Given the description of an element on the screen output the (x, y) to click on. 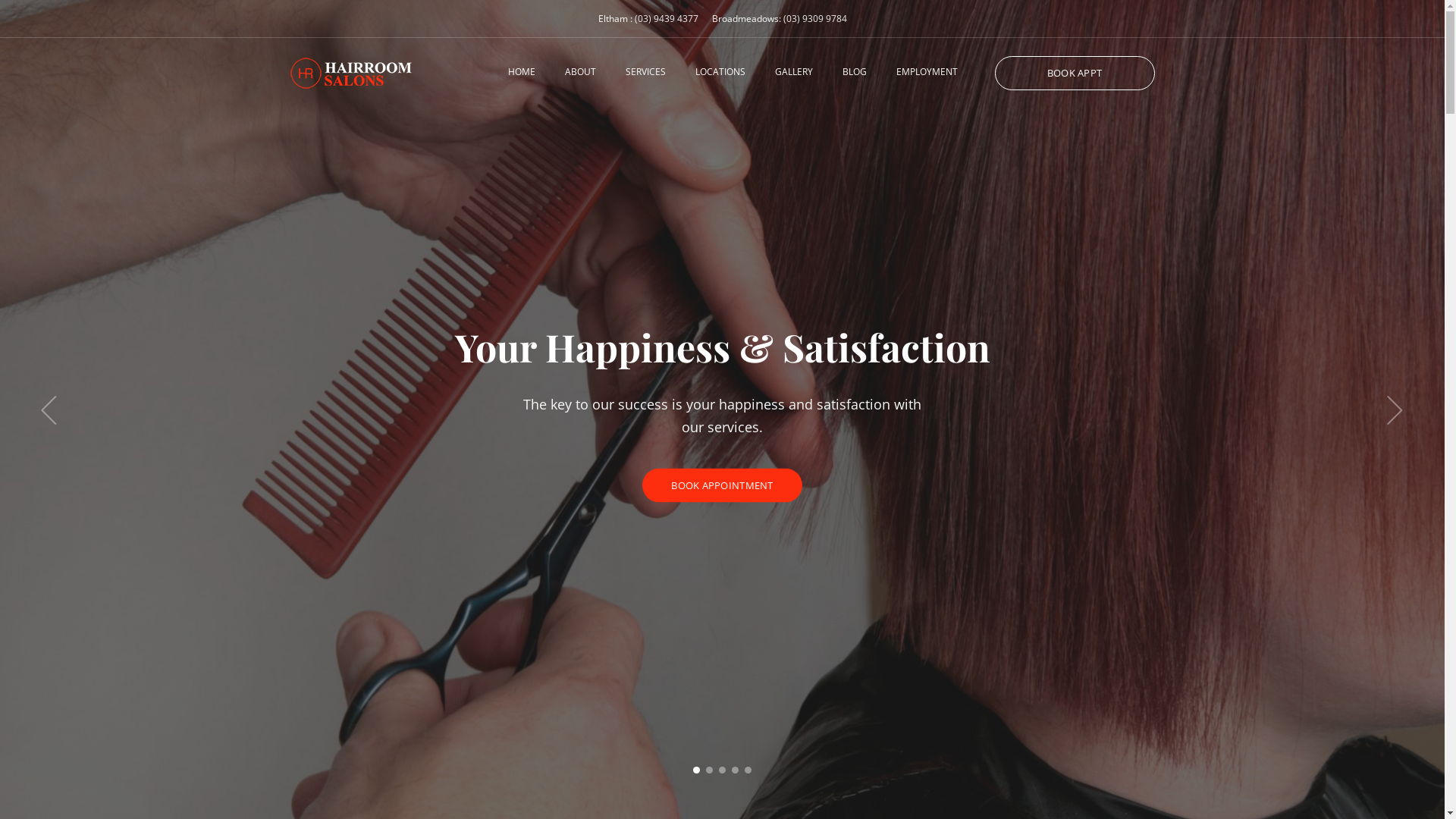
GALLERY Element type: text (793, 71)
BLOG Element type: text (853, 71)
LOCATIONS Element type: text (719, 71)
BOOK APPOINTMENT Element type: text (722, 485)
BOOK APPT Element type: text (1074, 73)
SERVICES Element type: text (644, 71)
HOME Element type: text (521, 71)
EMPLOYMENT Element type: text (926, 71)
ABOUT Element type: text (579, 71)
